Given the description of an element on the screen output the (x, y) to click on. 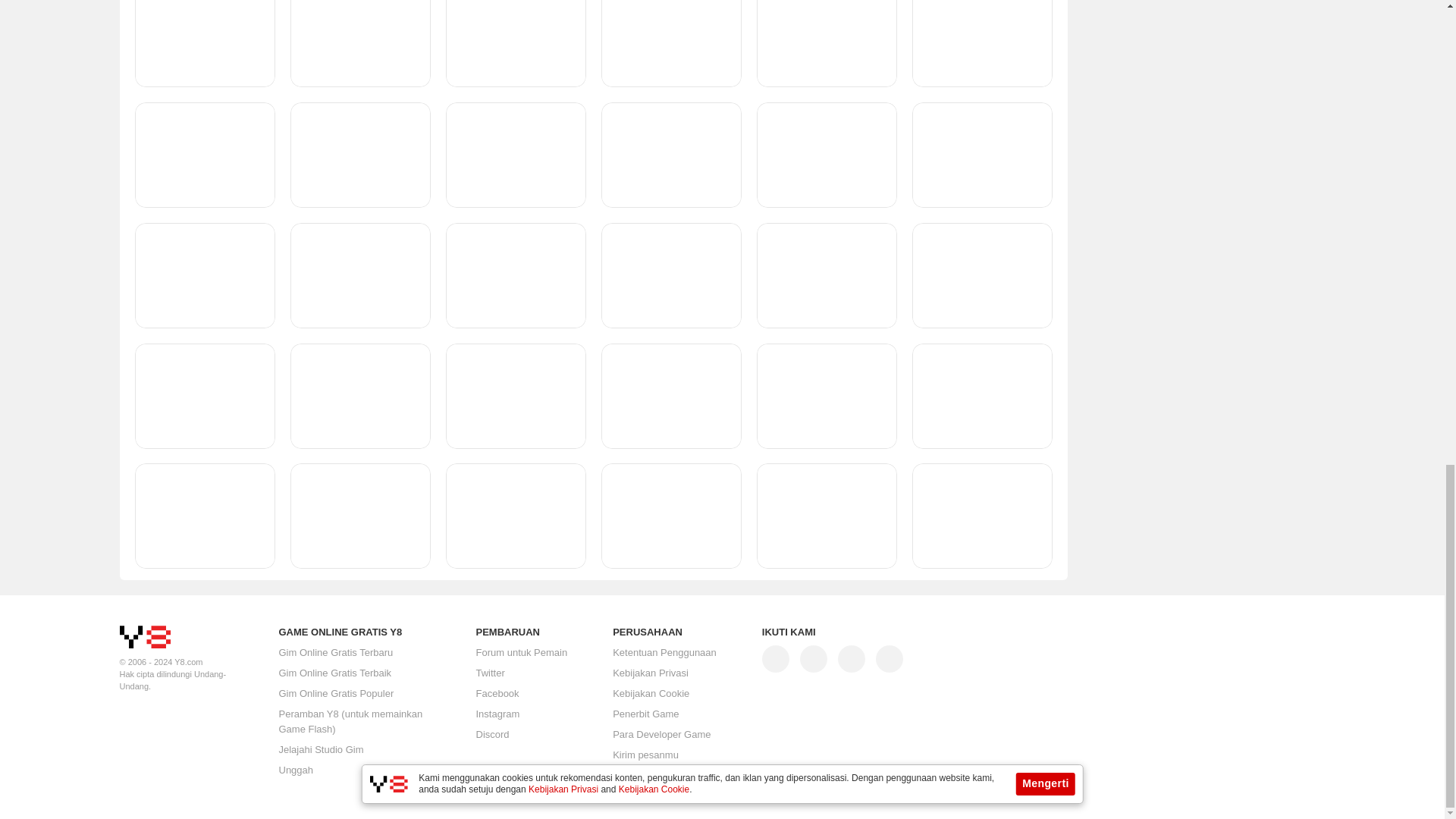
Kebijakan Privasi (650, 673)
Temukan Gim Peringkat Teratas - Pilihan Gim Terbaik 2024 (335, 672)
Temukan Gim Terpanas - Mainkan Gim Populer! (336, 693)
Ketentuan Penggunaan (664, 653)
Kebijakan Cookie (650, 693)
Forum untuk Pemain (521, 652)
Jadilah yang Pertama Memainkan Gim Online Gratis Terbaru (336, 652)
Upload Konten Kamu ke Y8 (296, 769)
Unduh Y8 Browser (351, 721)
